Given the description of an element on the screen output the (x, y) to click on. 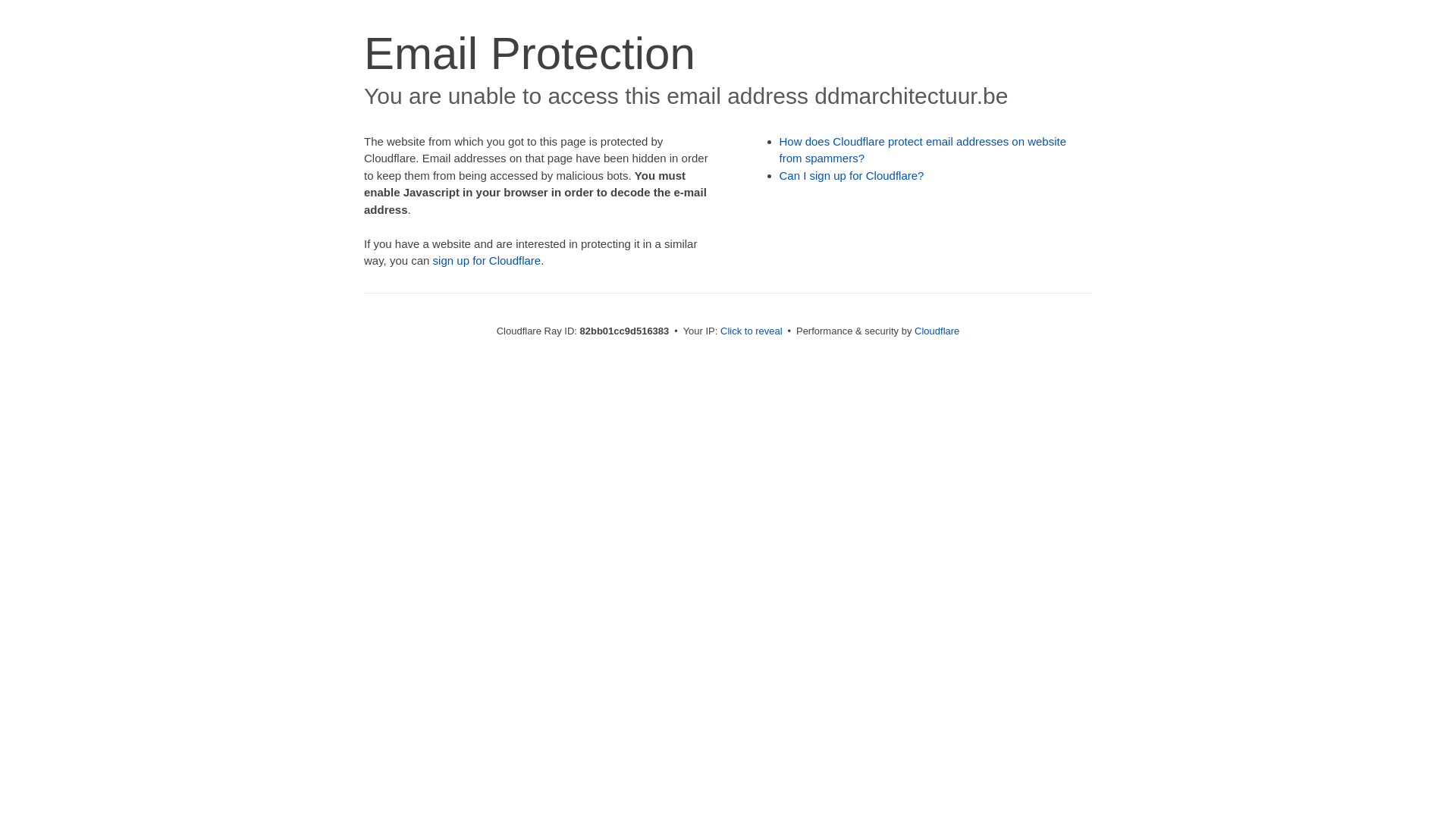
Click to reveal Element type: text (751, 330)
sign up for Cloudflare Element type: text (487, 260)
Cloudflare Element type: text (936, 330)
Can I sign up for Cloudflare? Element type: text (851, 175)
